Given the description of an element on the screen output the (x, y) to click on. 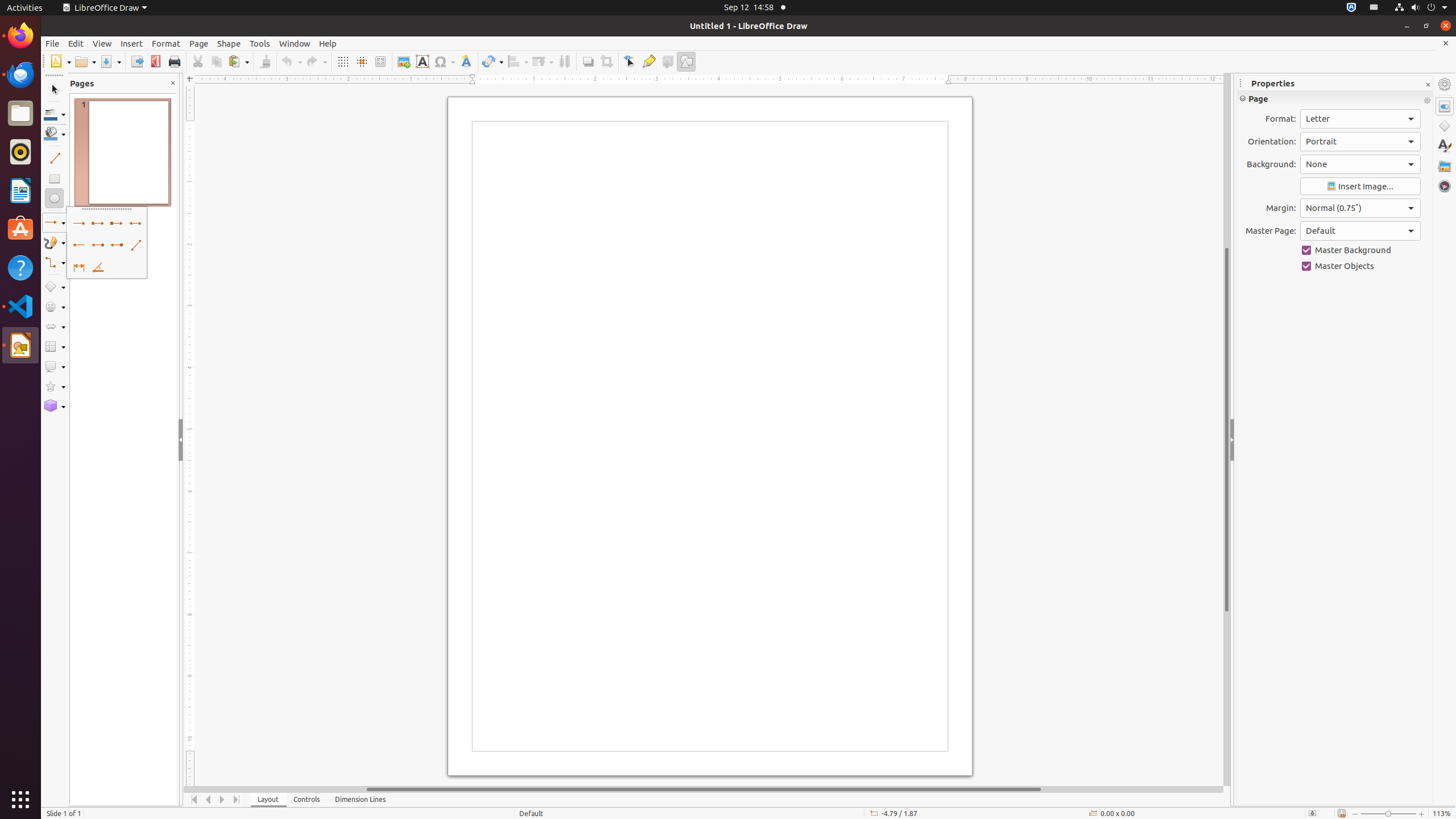
Page Element type: menu (198, 43)
Visual Studio Code Element type: push-button (20, 306)
Crop Element type: push-button (606, 61)
Horizontal Ruler Element type: ruler (703, 79)
Ubuntu Software Element type: push-button (20, 229)
